Given the description of an element on the screen output the (x, y) to click on. 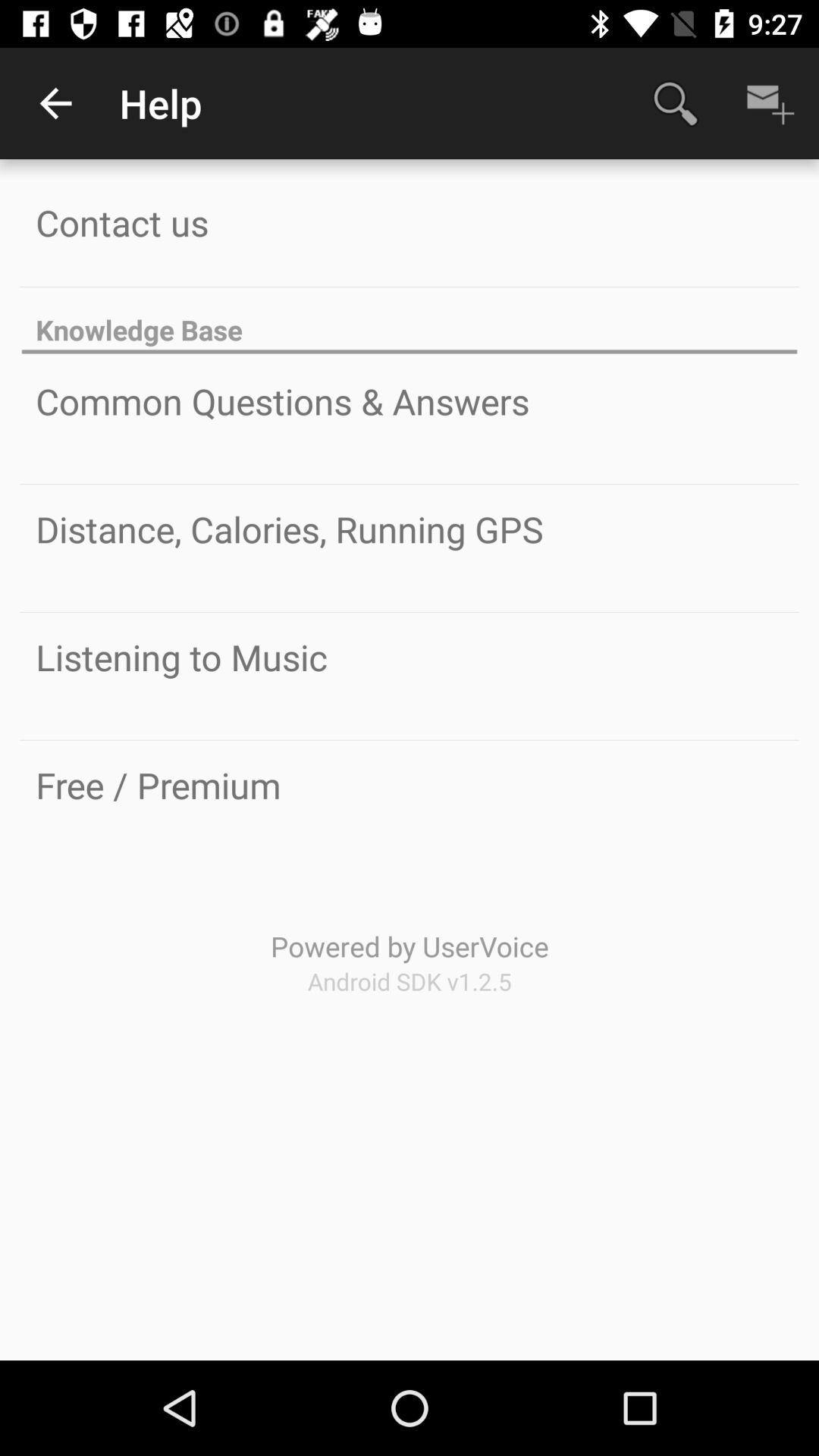
press icon below free / premium icon (409, 946)
